Given the description of an element on the screen output the (x, y) to click on. 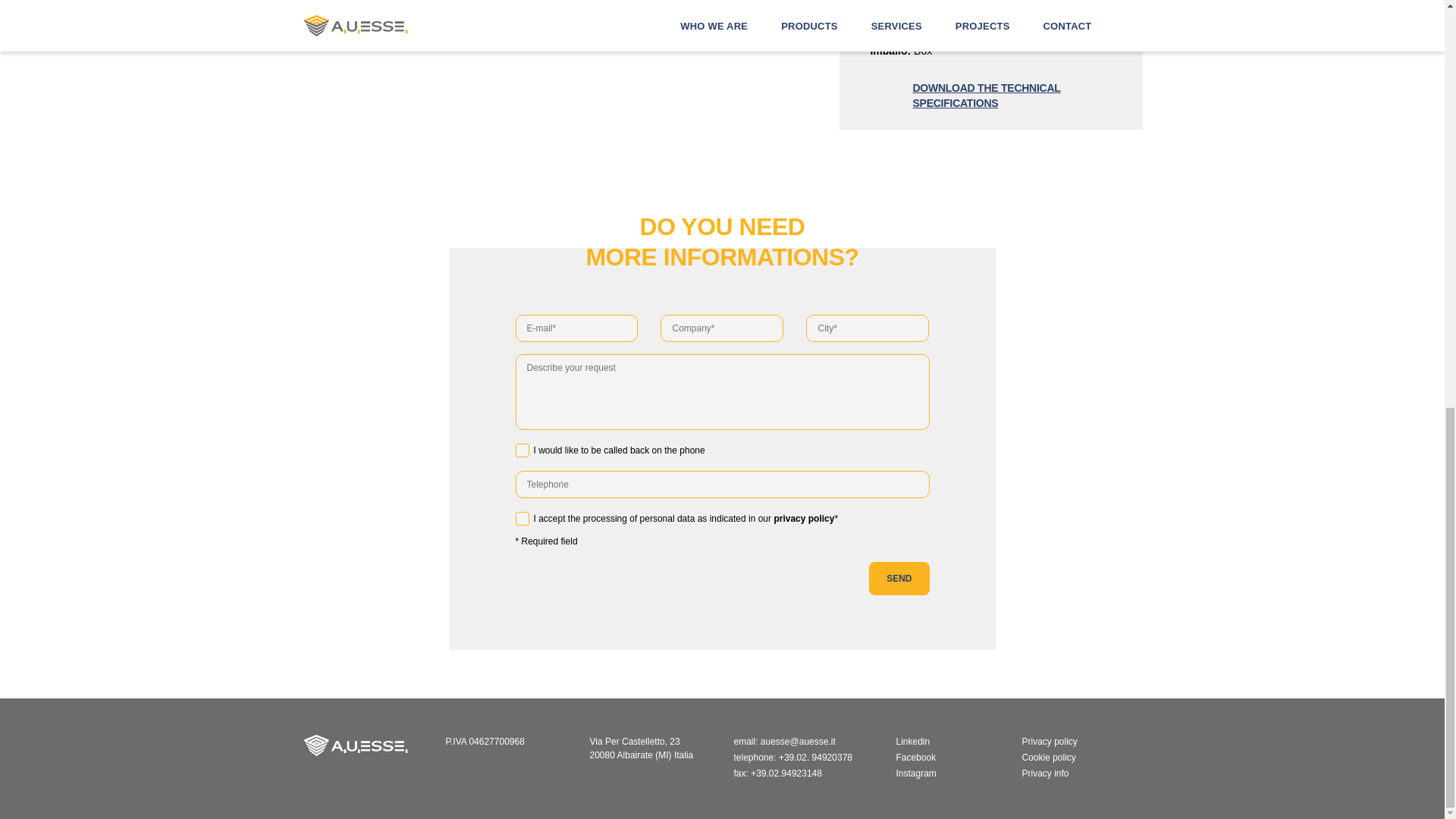
Facebook (906, 757)
Instagram (906, 773)
Instagram (906, 773)
telefono (814, 757)
Linkedin (903, 741)
SEND (898, 578)
Cookie policy (1048, 757)
DOWNLOAD THE TECHNICAL SPECIFICATIONS (990, 95)
Download the technical specifications (990, 95)
Linkedin (903, 741)
Privacy policy (1049, 741)
email (797, 741)
Facebook (906, 757)
Privacy info (1045, 773)
Privacy policy (803, 518)
